Given the description of an element on the screen output the (x, y) to click on. 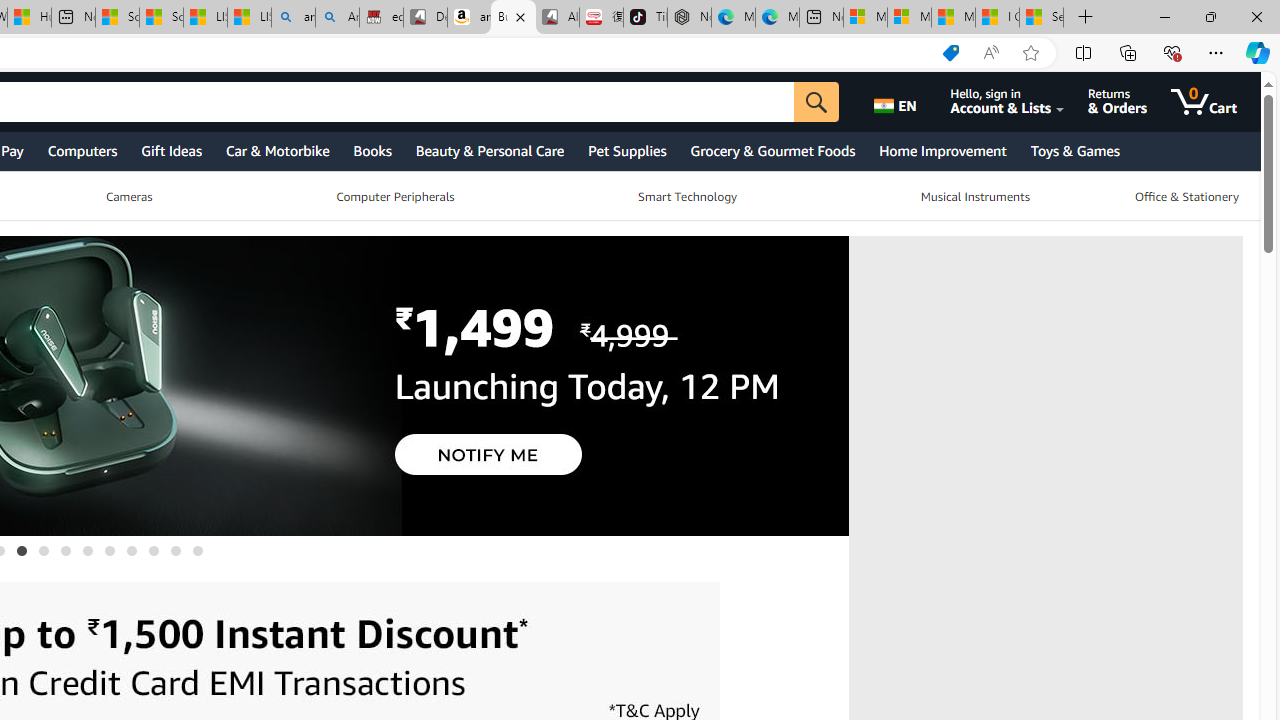
Microsoft account | Privacy (909, 17)
Microsoft Start (953, 17)
Toys & Games (1074, 150)
All Cubot phones (557, 17)
Nordace - Best Sellers (689, 17)
Home Improvement (942, 150)
Books (372, 150)
Shopping in Microsoft Edge (950, 53)
